Given the description of an element on the screen output the (x, y) to click on. 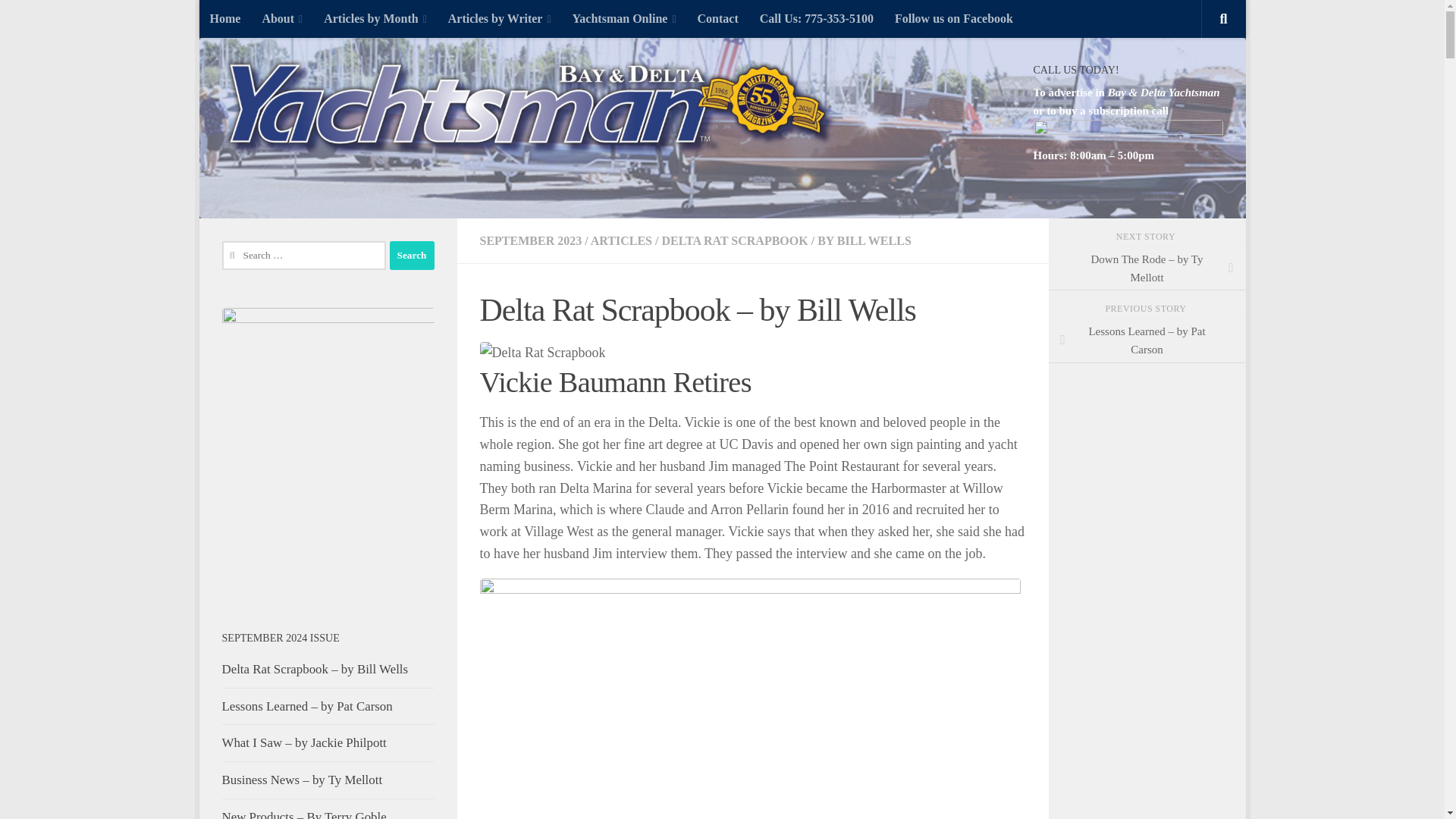
Skip to content (258, 20)
Search (411, 255)
Search (411, 255)
